Given the description of an element on the screen output the (x, y) to click on. 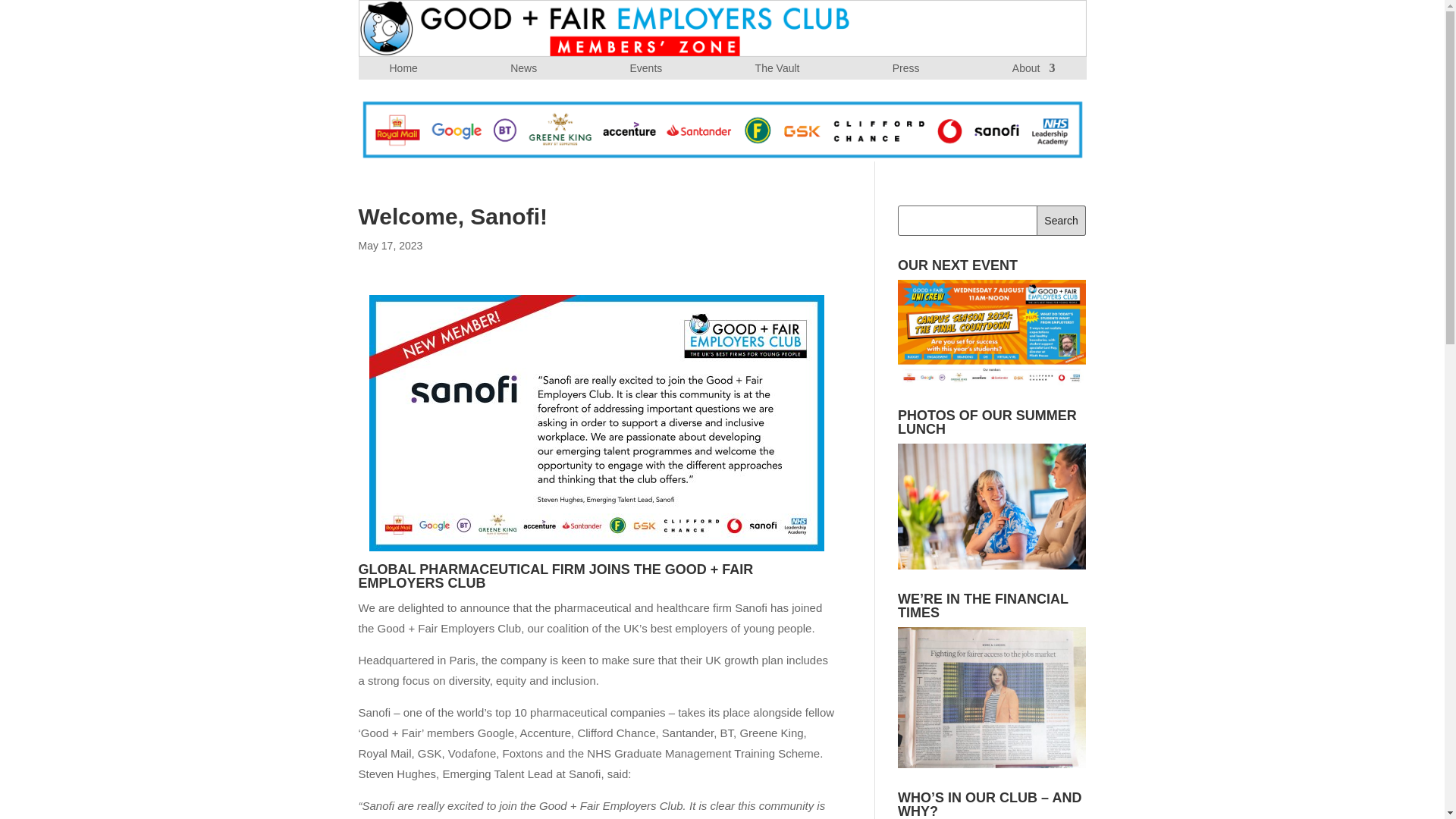
Press (906, 71)
Events (645, 71)
Home (403, 71)
Search (1061, 220)
The Vault (777, 71)
Search (1061, 220)
News (524, 71)
About (1033, 71)
